Given the description of an element on the screen output the (x, y) to click on. 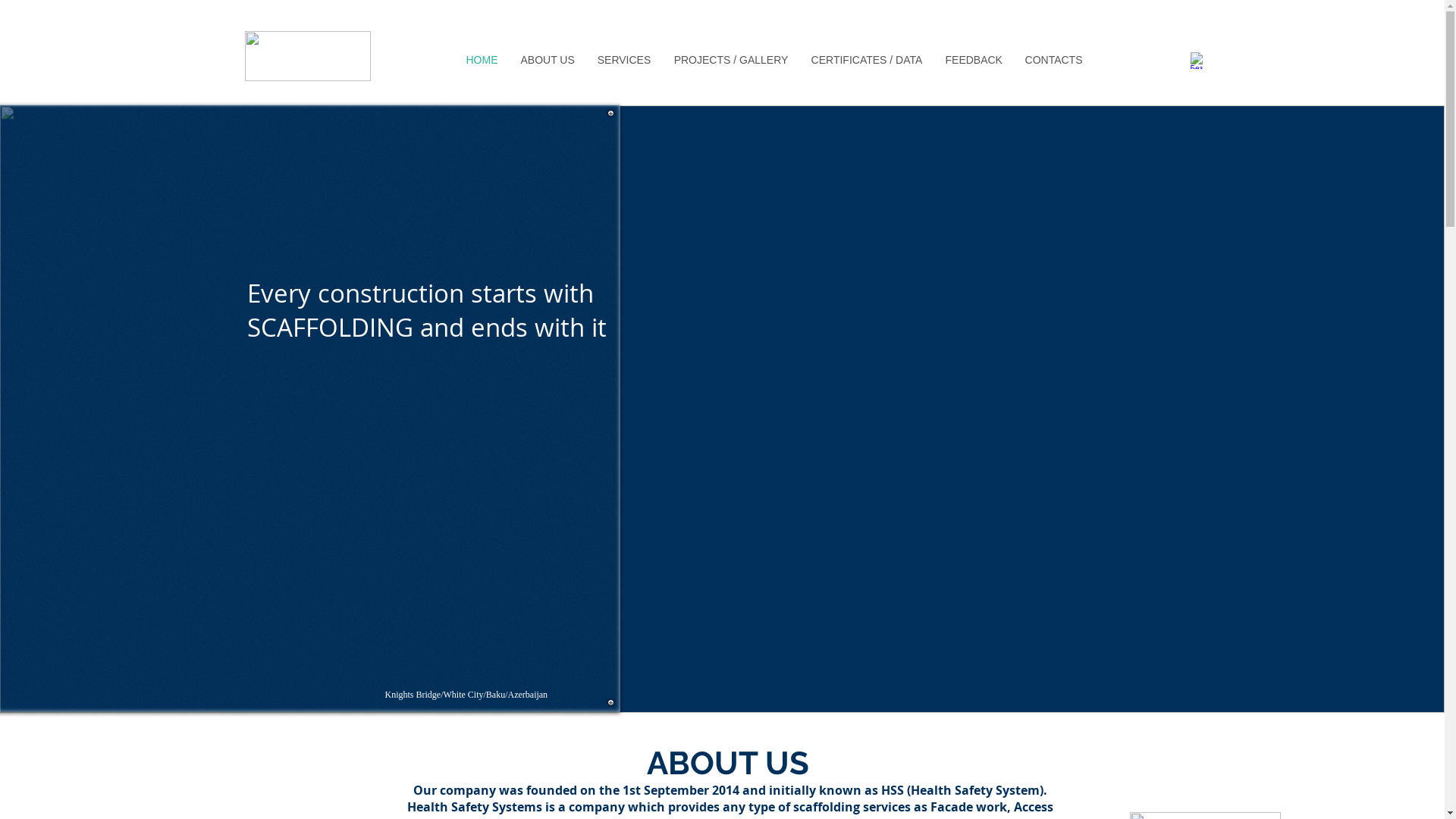
CONTACTS Element type: text (1053, 59)
ABOUT US Element type: text (547, 59)
HOME Element type: text (482, 59)
jpeg.png Element type: hover (307, 56)
FEEDBACK Element type: text (973, 59)
SERVICES Element type: text (623, 59)
